Given the description of an element on the screen output the (x, y) to click on. 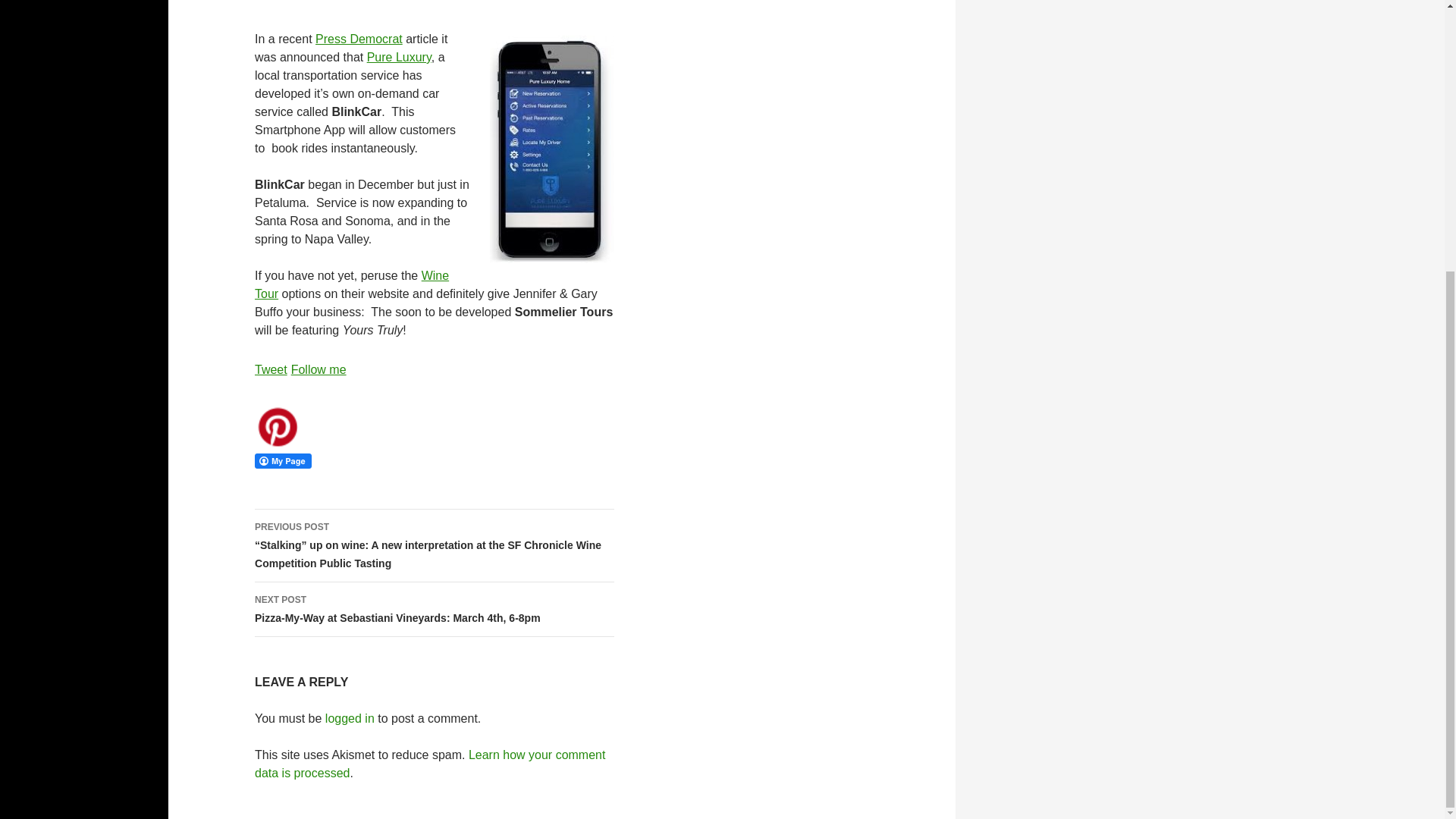
Wine Tour (351, 284)
logged in (349, 717)
Pure Luxury Wine Tours (351, 284)
Pure Luxury (398, 56)
Follow me (318, 369)
Pure Luxury Transportation (398, 56)
Pure Luxury App Development (359, 38)
Tweet (270, 369)
Press Democrat (359, 38)
